Given the description of an element on the screen output the (x, y) to click on. 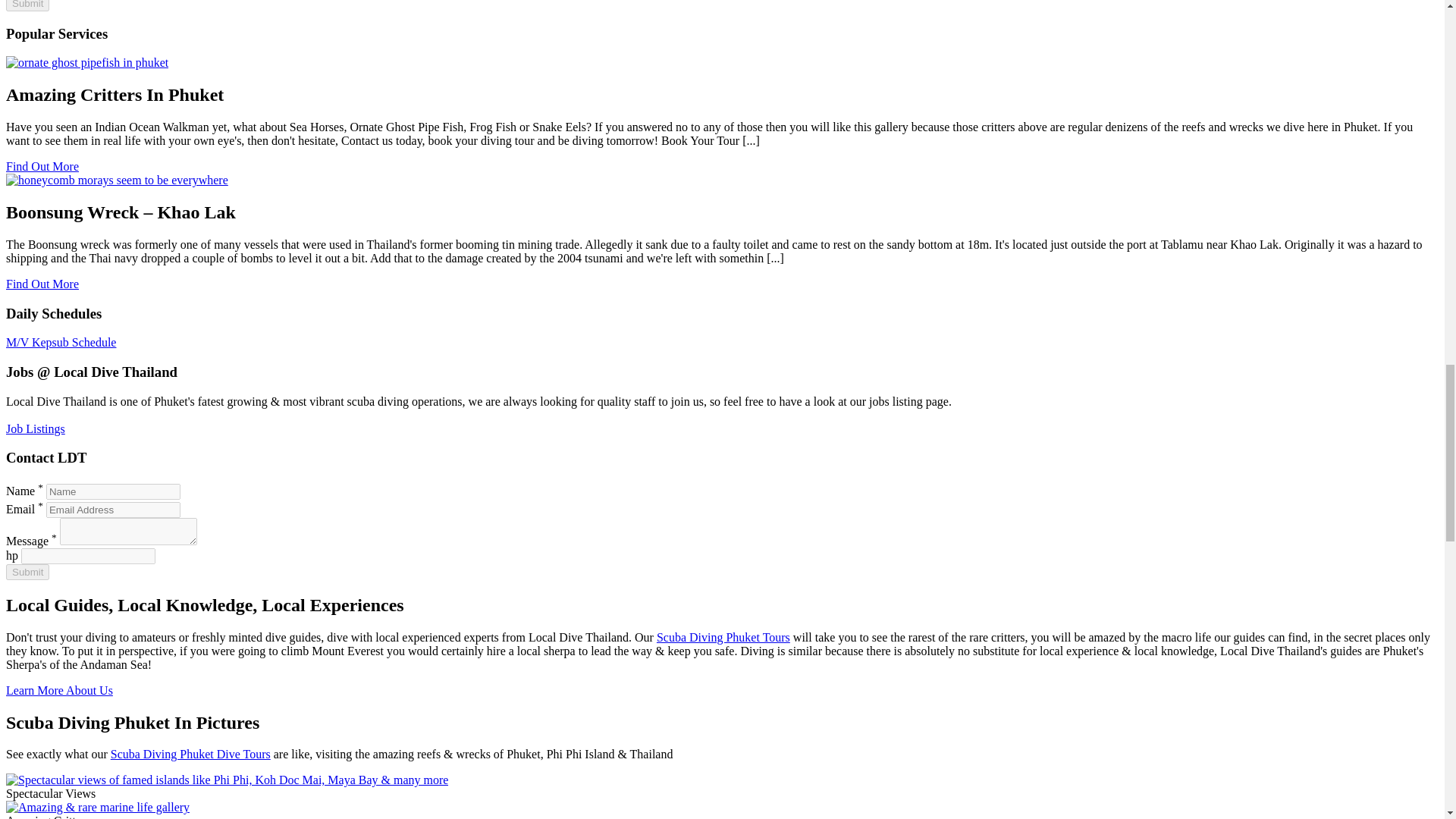
Scuba Diving Phuket Tours (723, 636)
Submit (27, 571)
Local Dive Thailand Mission Statement (59, 689)
Submit (27, 5)
Pictures of Phuket's amazing island scenery (226, 779)
Jobs at Local Dive Thailand (35, 428)
Scuba Diving Tour Schedule for Phuket (60, 341)
Scuba Diving Phuket Dive Tours (190, 753)
